Given the description of an element on the screen output the (x, y) to click on. 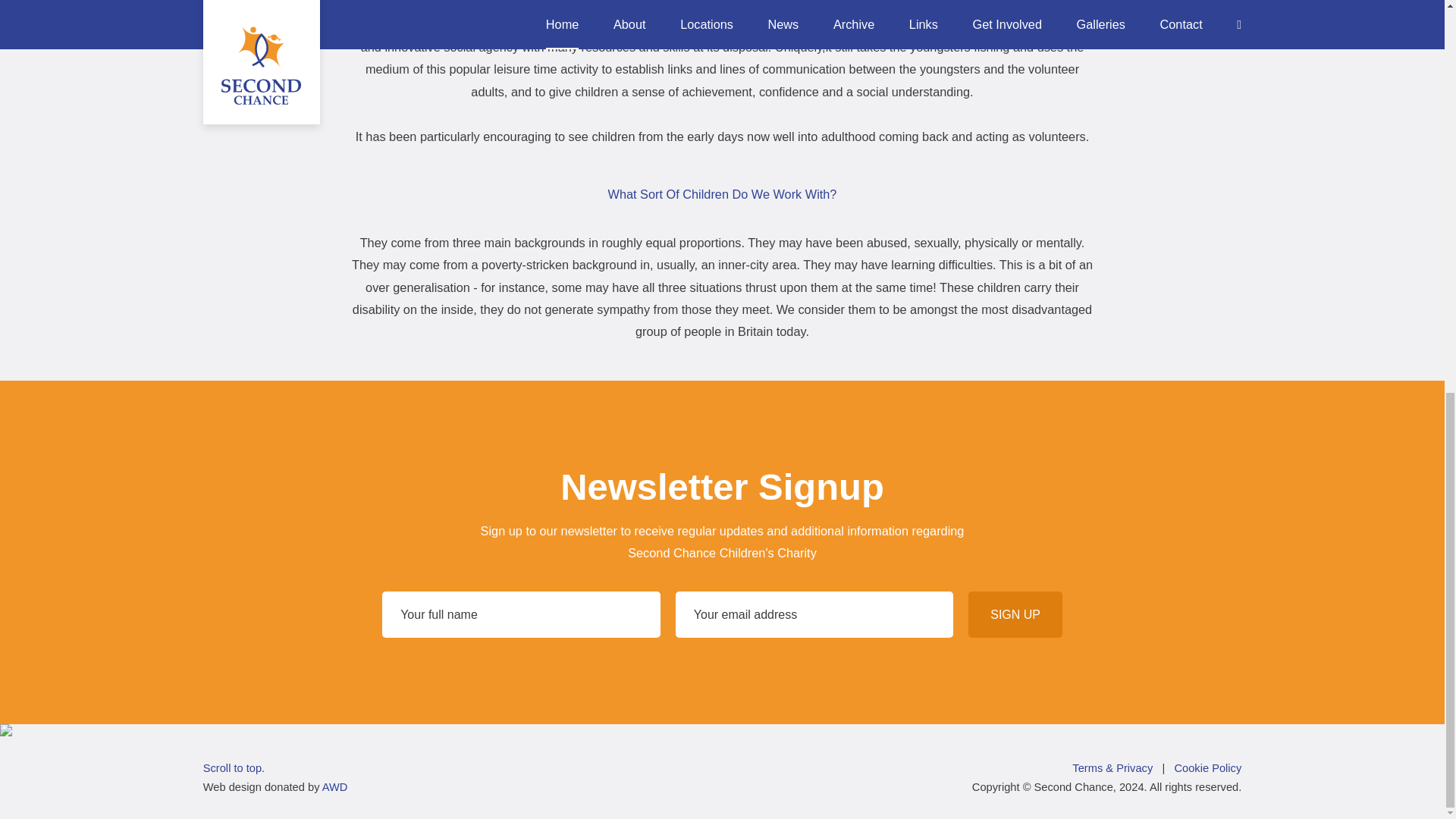
Your full name (521, 614)
AWD (334, 787)
Scroll to top. (233, 767)
Scroll to top. (233, 767)
Your email address (814, 614)
Cookie Policy (1207, 767)
Terms and Conditions (1112, 767)
Cookie Policy (1207, 767)
Advanced Web Designs Ltd. (334, 787)
Sign up (1014, 614)
Sign up (1014, 614)
